Given the description of an element on the screen output the (x, y) to click on. 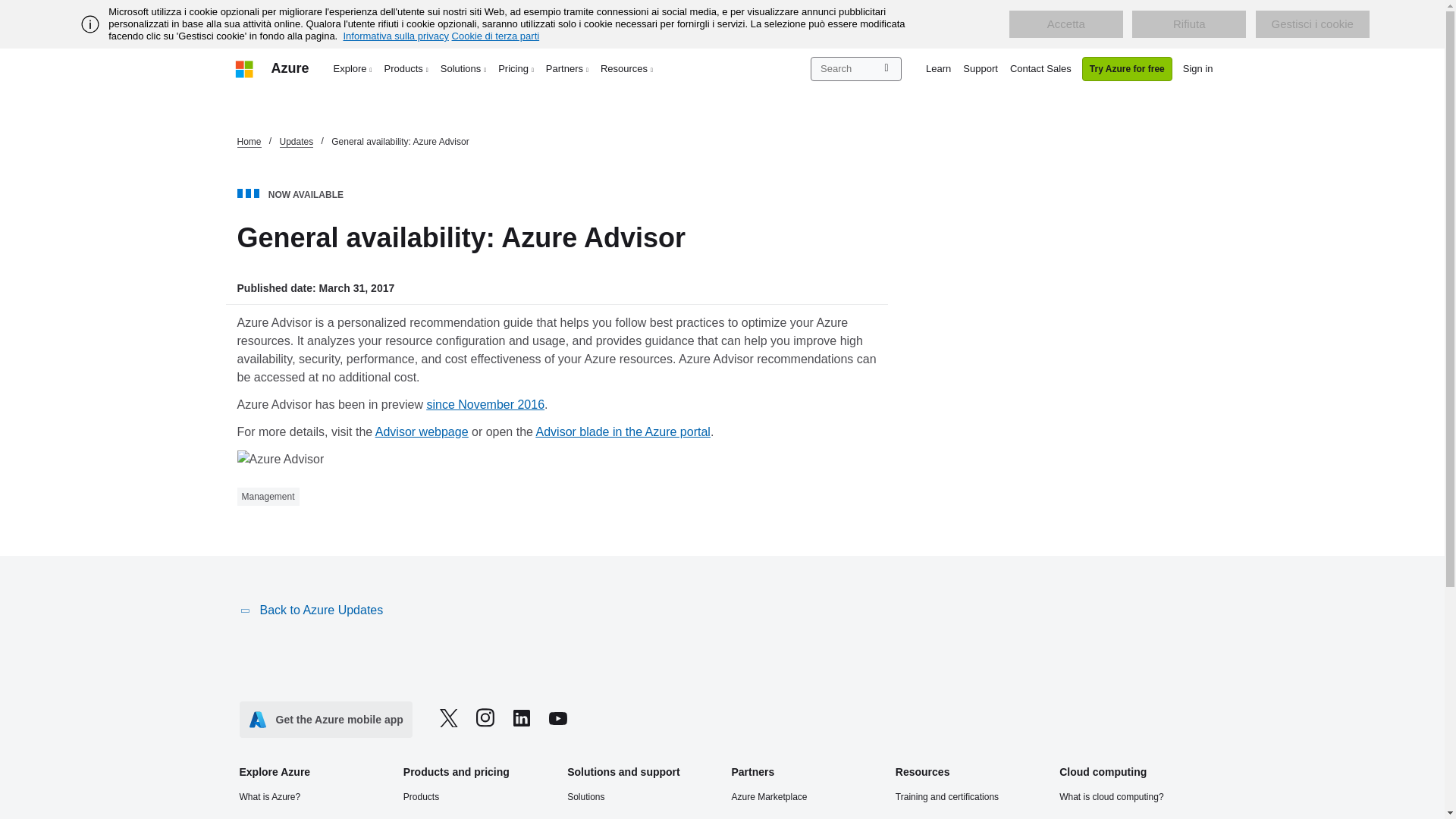
Skip to main content (7, 7)
Explore (352, 68)
Gestisci i cookie (1312, 23)
Informativa sulla privacy (395, 35)
Rifiuta (1189, 23)
Accetta (1065, 23)
Azure (289, 68)
Cookie di terza parti (495, 35)
Products (405, 68)
